Given the description of an element on the screen output the (x, y) to click on. 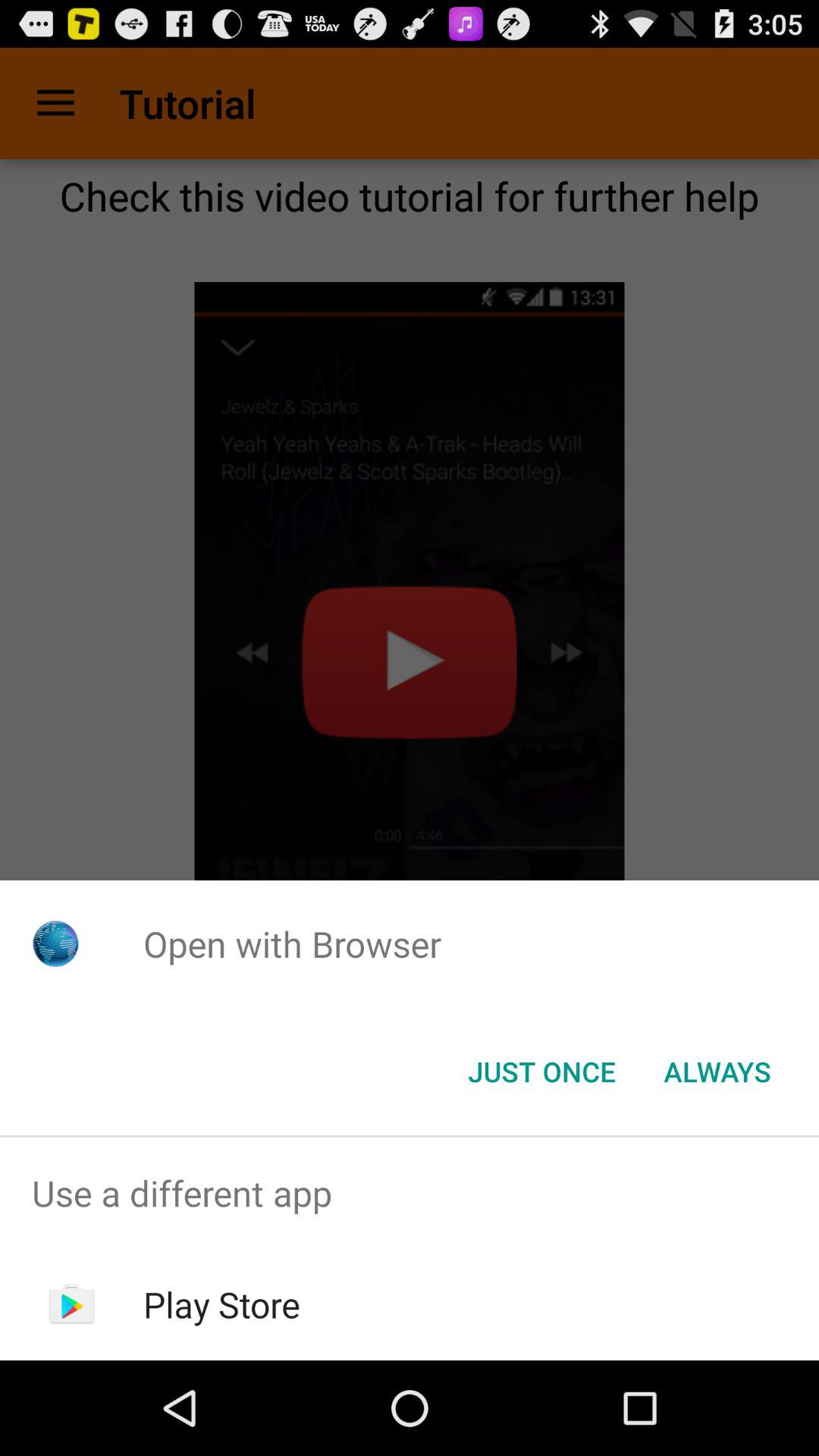
select app below use a different (221, 1304)
